Given the description of an element on the screen output the (x, y) to click on. 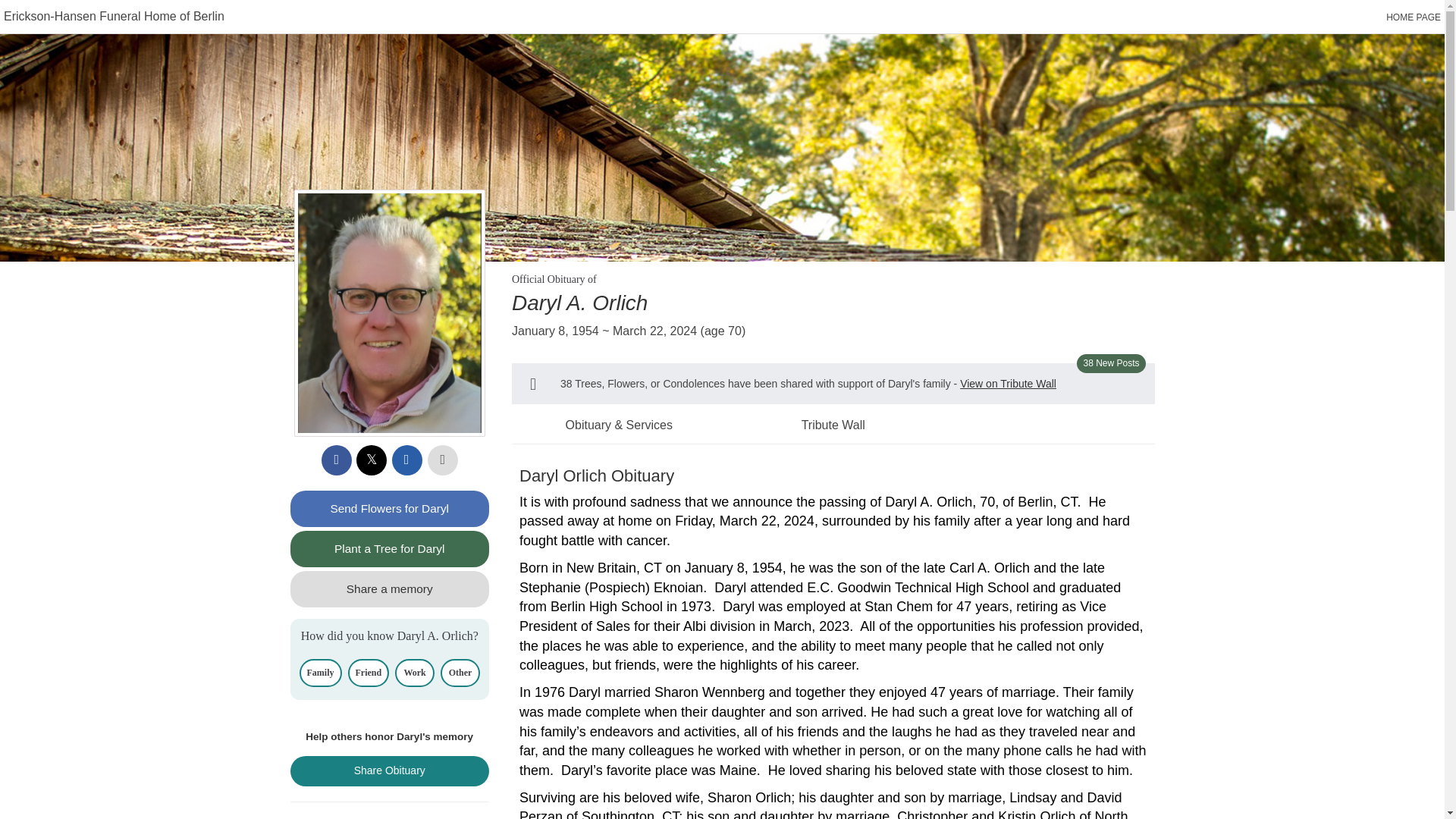
Share Obituary (389, 770)
Share a memory (389, 588)
Plant a Tree for Daryl (389, 548)
Send Flowers for Daryl (389, 508)
Erickson-Hansen Funeral Home of Berlin (114, 15)
Share on X (371, 460)
Share to Facebook (336, 460)
Printable copy (443, 460)
View on Tribute Wall (1008, 383)
Share via email (406, 460)
HOME PAGE (1413, 17)
